Given the description of an element on the screen output the (x, y) to click on. 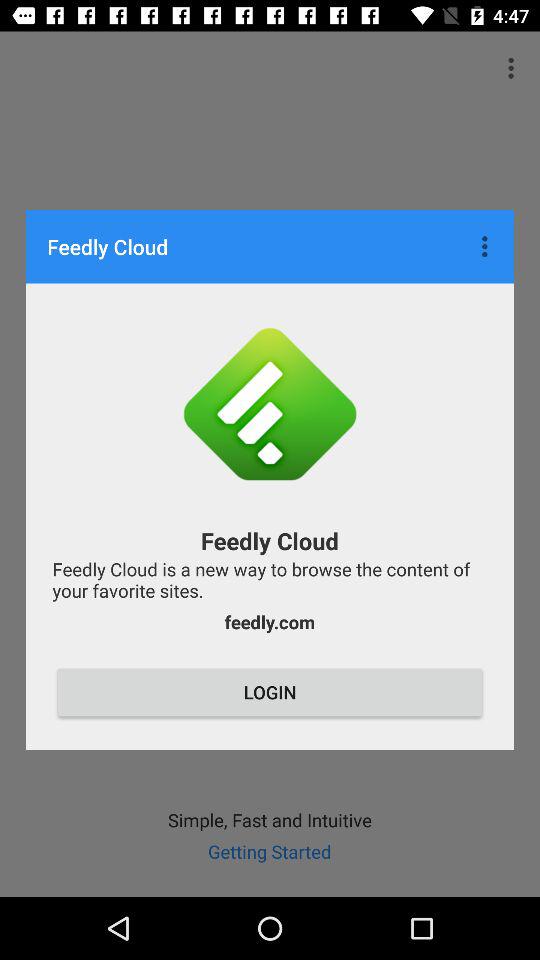
choose icon below the feedly cloud is item (269, 621)
